Given the description of an element on the screen output the (x, y) to click on. 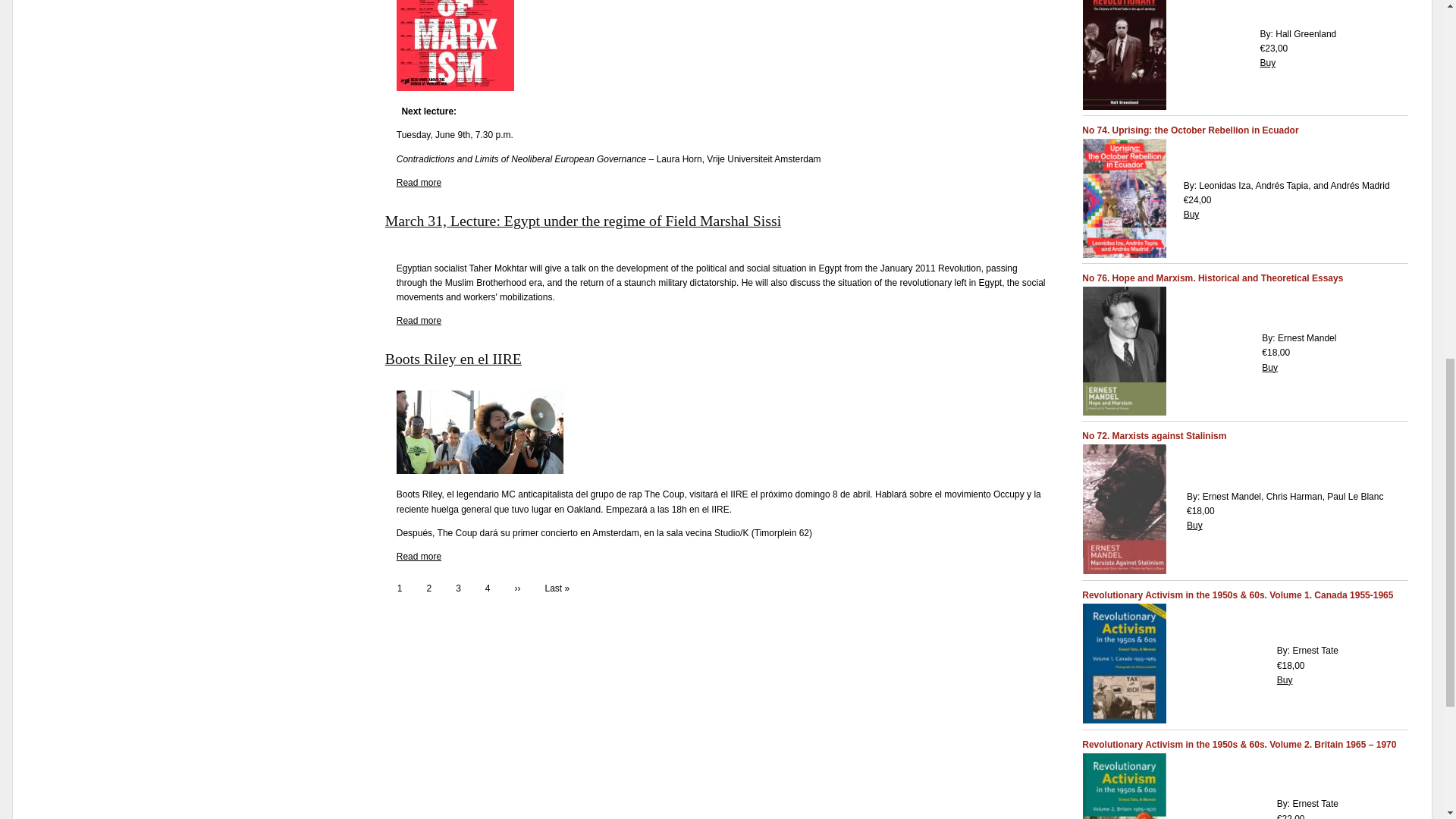
Go to page 3 (458, 588)
Go to page 4 (487, 588)
Go to page 2 (428, 588)
